Given the description of an element on the screen output the (x, y) to click on. 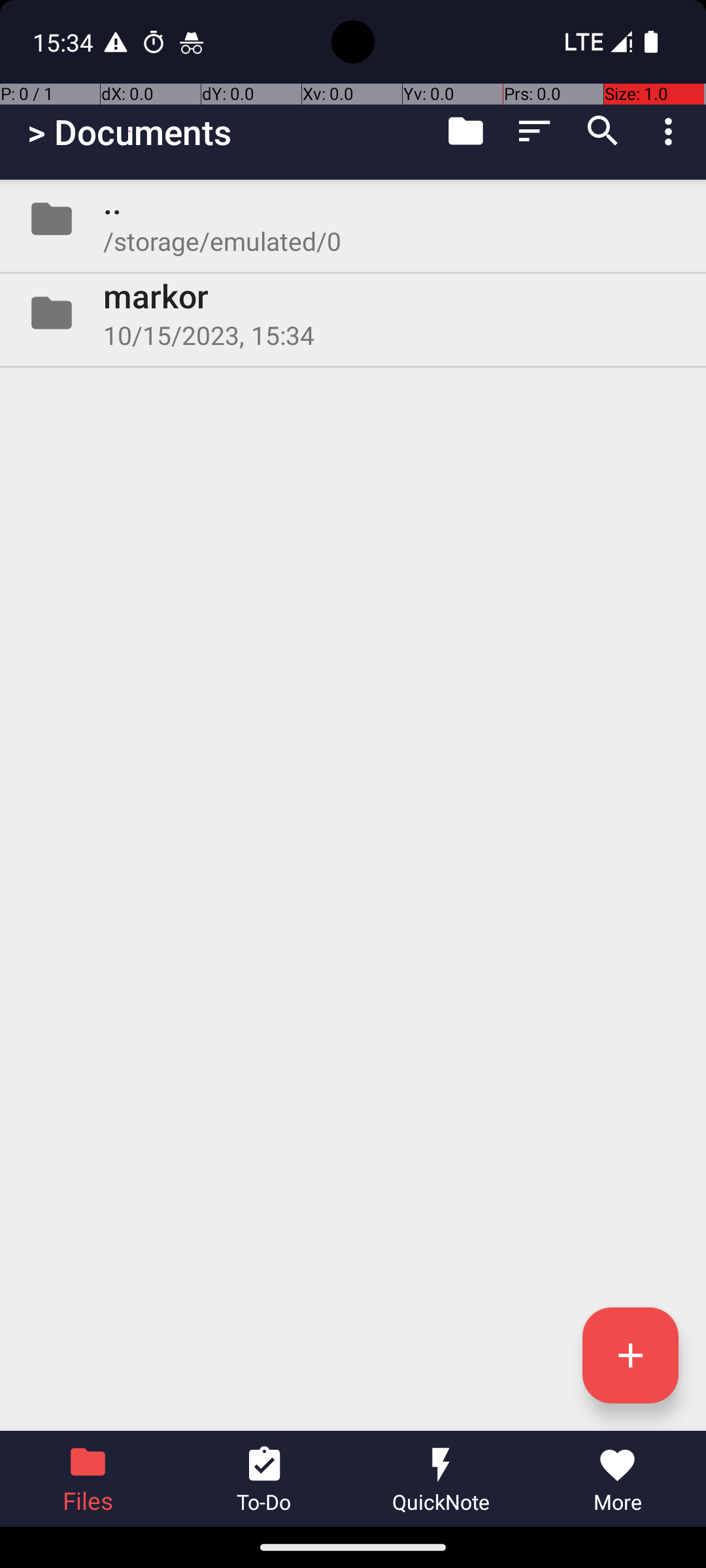
> Documents Element type: android.widget.TextView (129, 131)
Folder markor  Element type: android.widget.LinearLayout (353, 312)
